Given the description of an element on the screen output the (x, y) to click on. 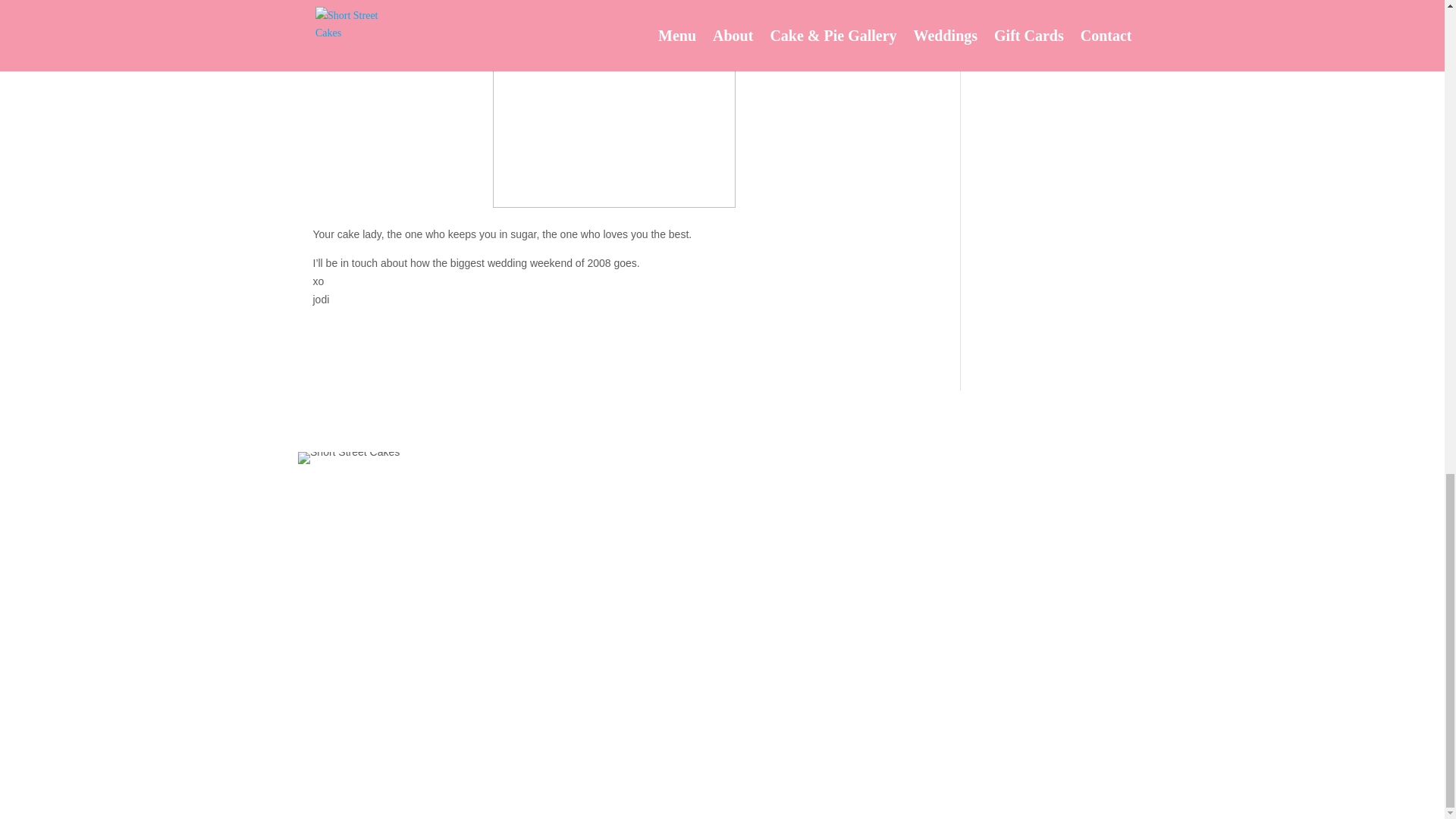
ShortStreetCakes-logo (348, 458)
